Given the description of an element on the screen output the (x, y) to click on. 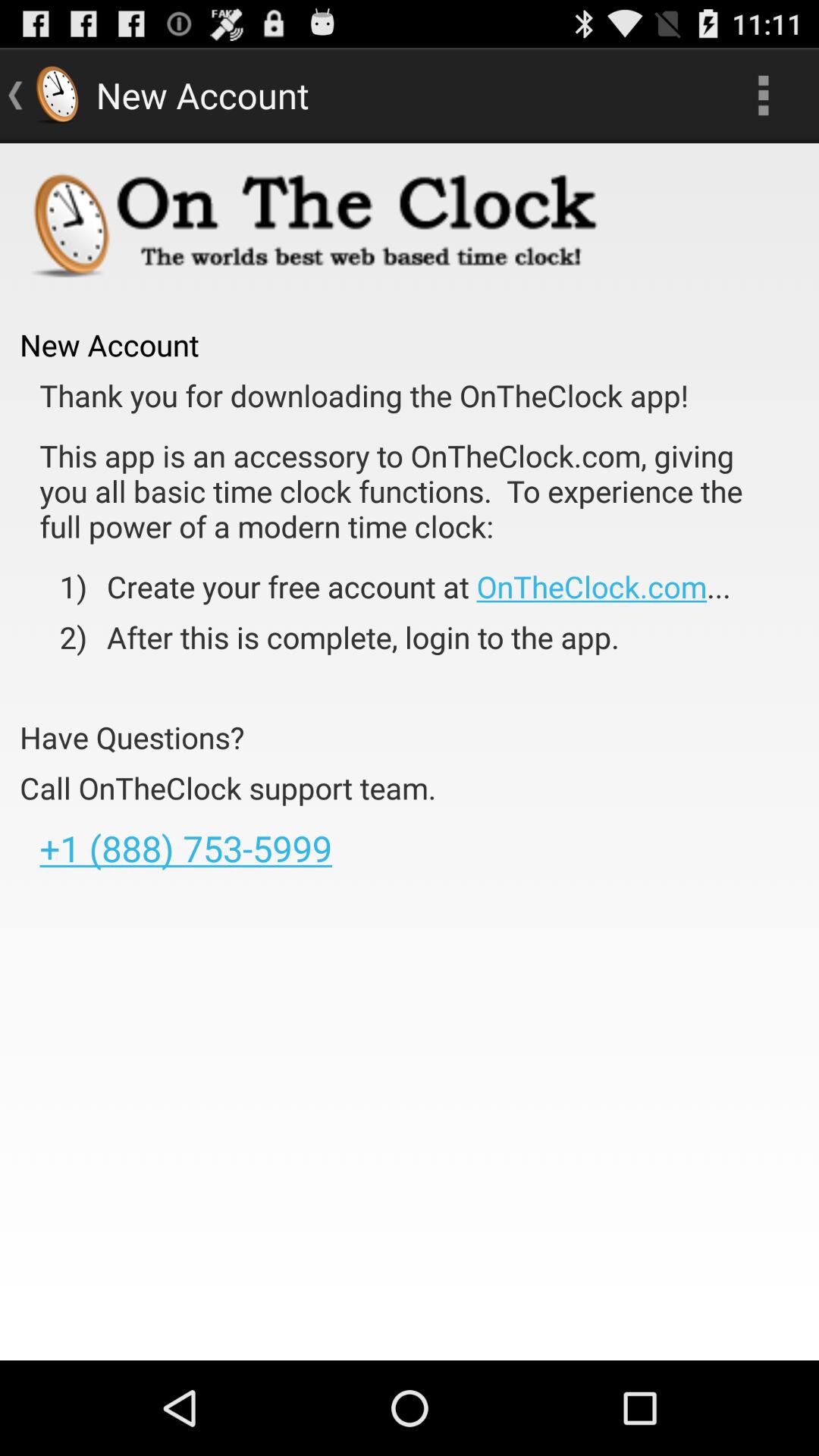
turn on app below the new account icon (363, 395)
